Given the description of an element on the screen output the (x, y) to click on. 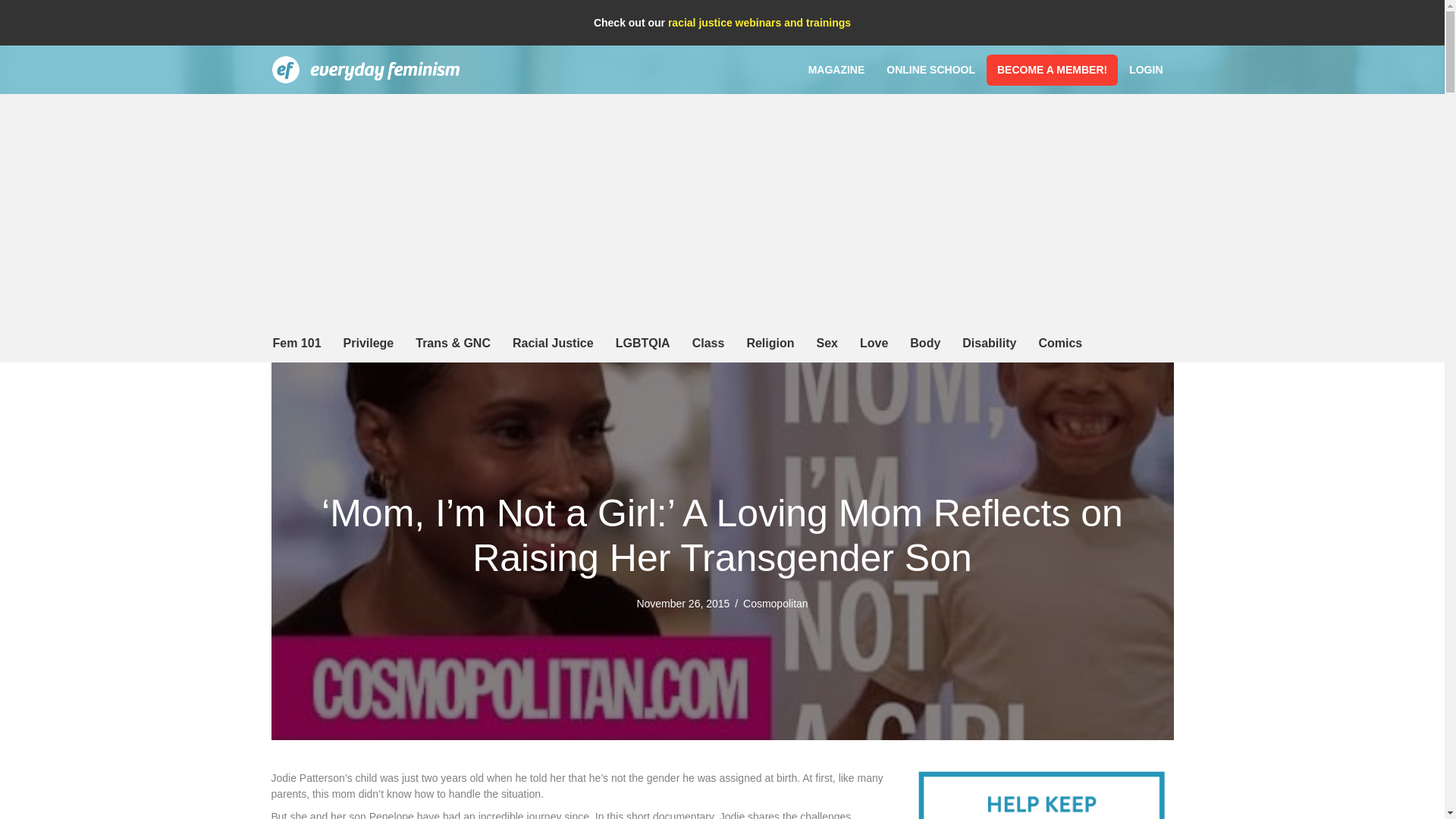
LGBTQIA (643, 342)
Class (708, 342)
Love (873, 342)
Body (924, 342)
ONLINE SCHOOL (930, 69)
LOGIN (1145, 69)
Sex (826, 342)
Disability (989, 342)
Religion (770, 342)
Check out our racial justice webinars and trainings (722, 22)
